Given the description of an element on the screen output the (x, y) to click on. 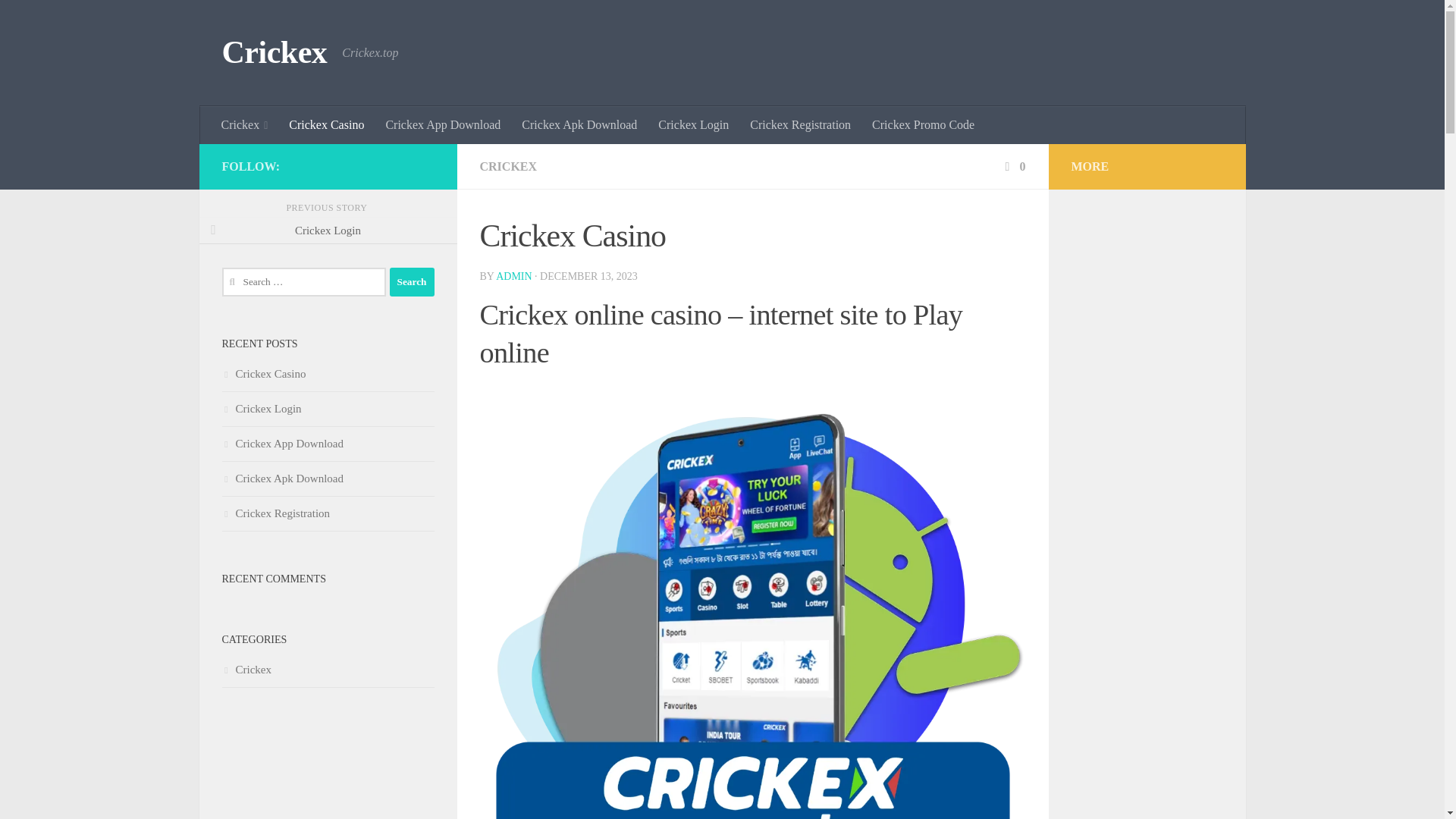
Crickex Login (693, 125)
ADMIN (513, 276)
Crickex (245, 125)
Crickex App Download (442, 125)
Crickex Apk Download (579, 125)
Crickex (273, 53)
Crickex Casino (326, 125)
Posts by admin (513, 276)
Skip to content (59, 20)
0 (1013, 165)
Crickex Promo Code (923, 125)
Search (411, 281)
Search (411, 281)
CRICKEX (508, 165)
Crickex Registration (800, 125)
